Given the description of an element on the screen output the (x, y) to click on. 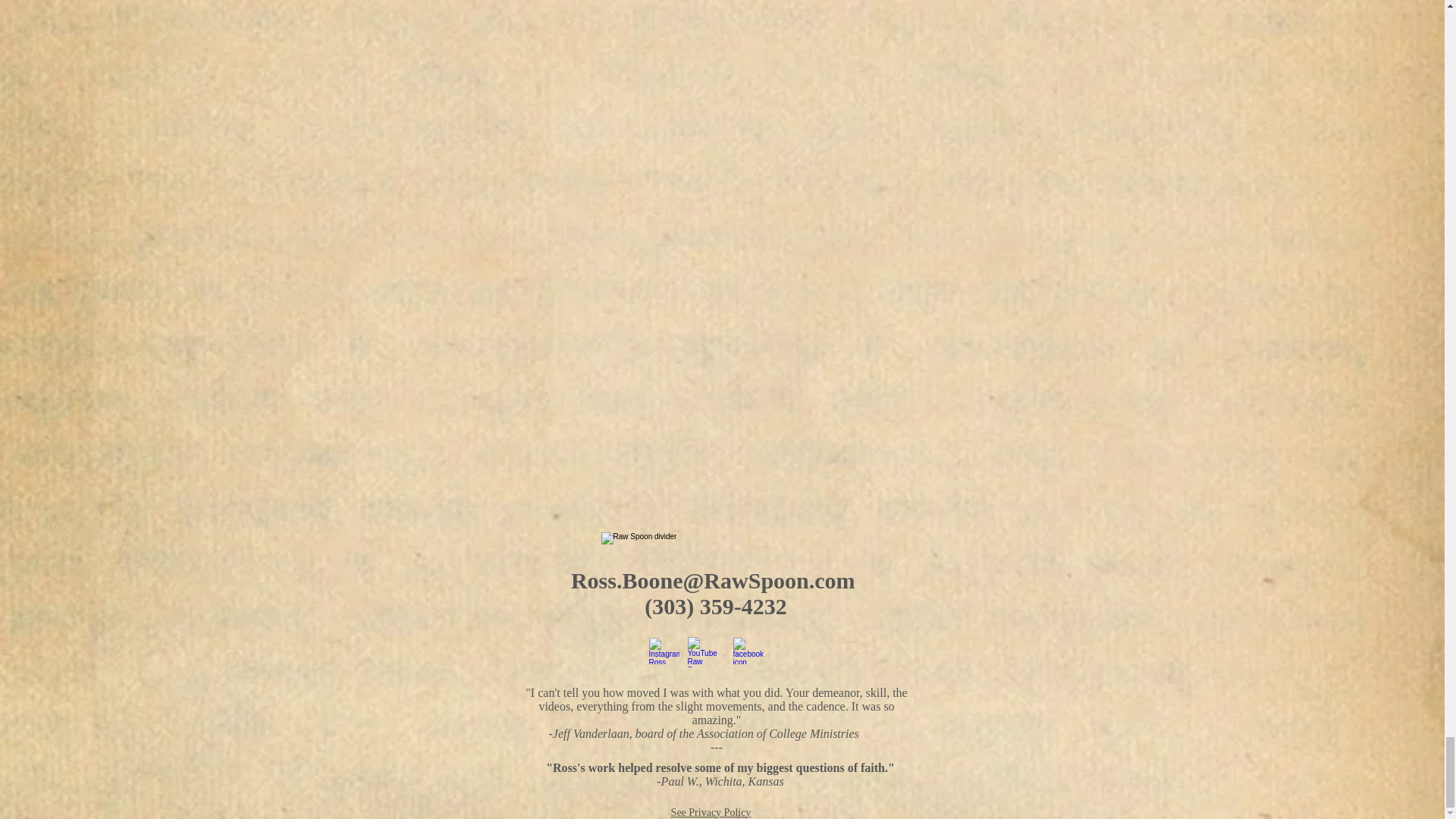
See Privacy Policy (711, 812)
YouTube channel (706, 652)
Instagram page (664, 650)
